Given the description of an element on the screen output the (x, y) to click on. 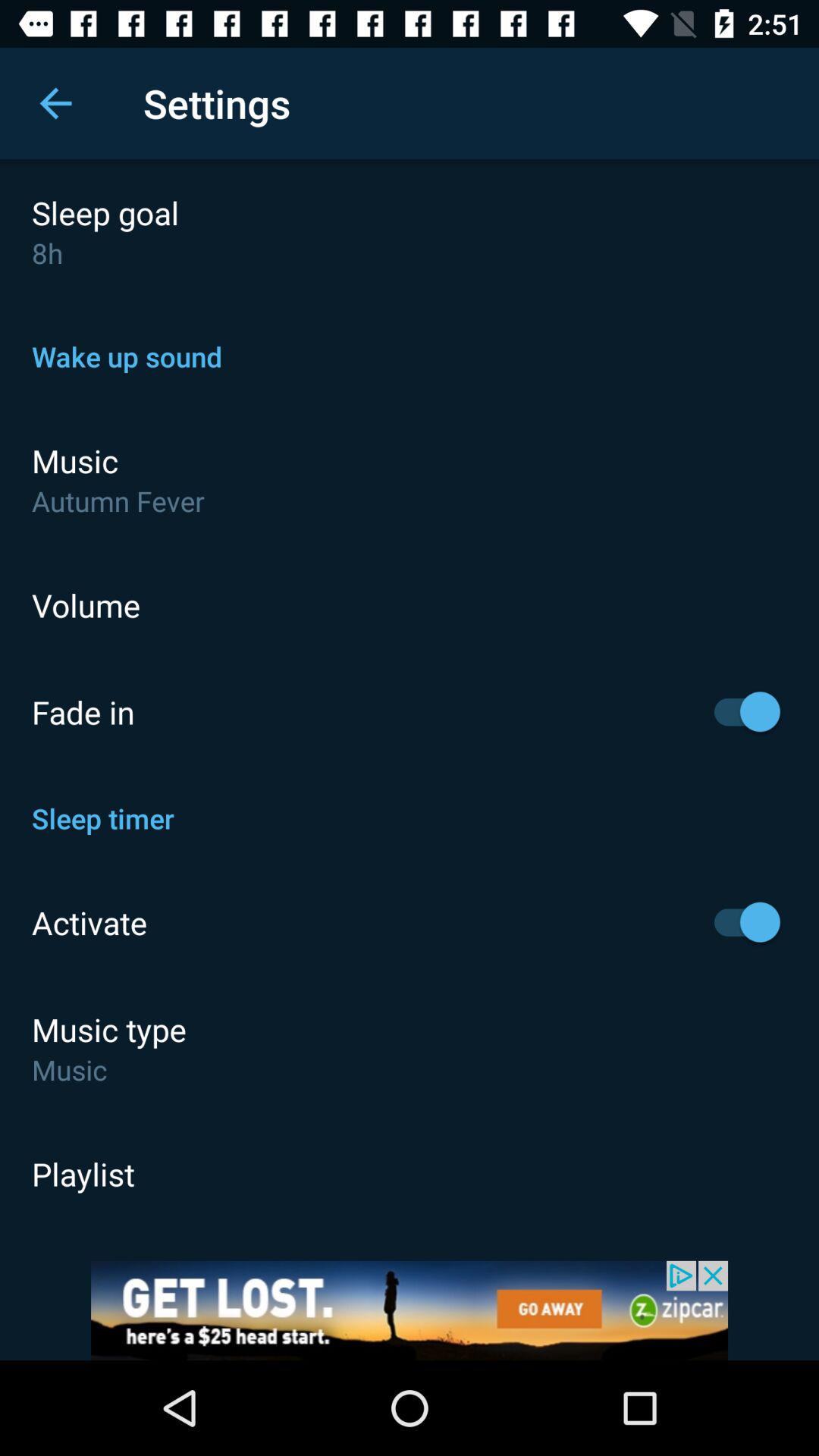
opens a advertisement (409, 1310)
